Given the description of an element on the screen output the (x, y) to click on. 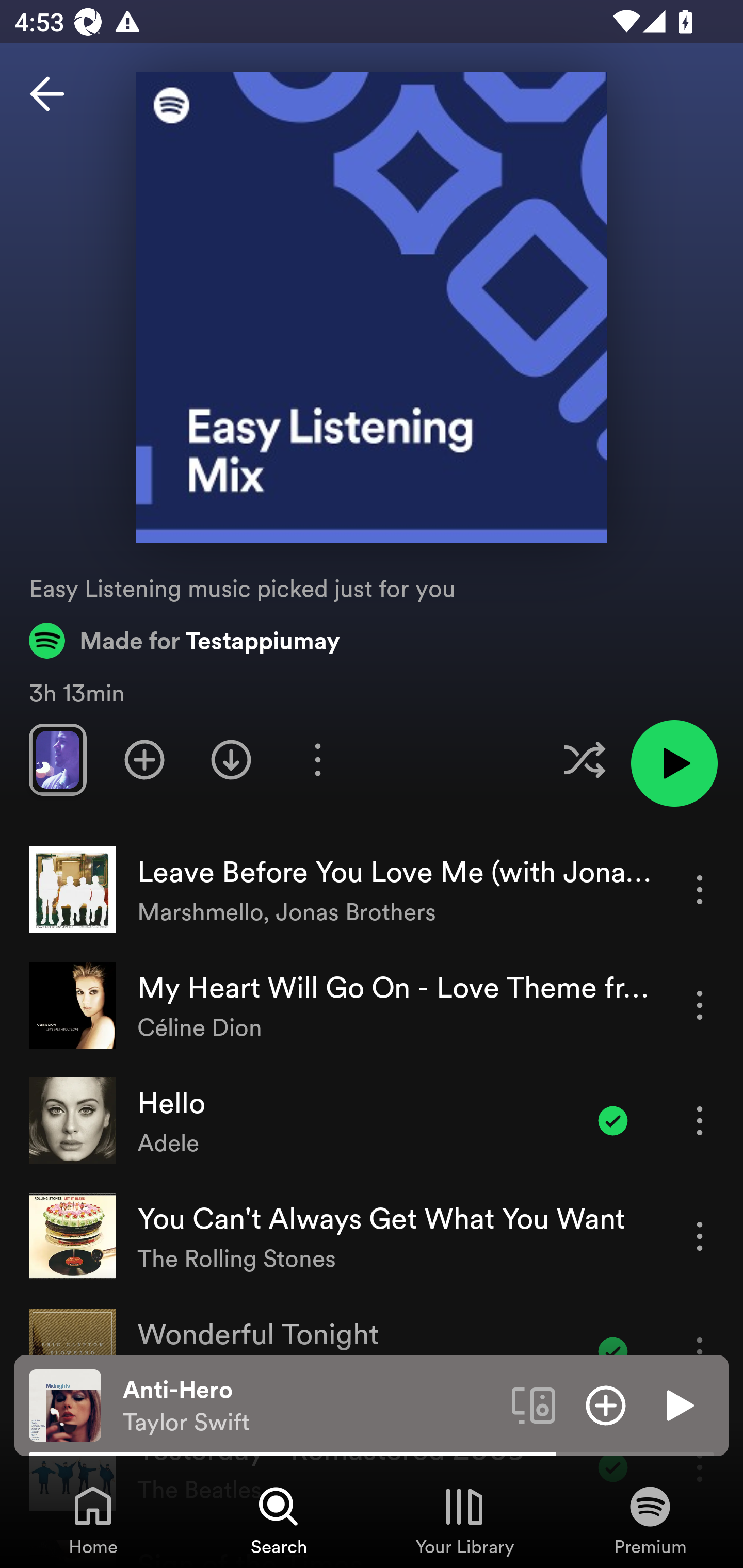
Back (46, 93)
Made for Testappiumay (184, 640)
Swipe through previews of tracks in this playlist. (57, 759)
Add playlist to Your Library (144, 759)
Download (230, 759)
More options for playlist Easy Listening Mix (317, 759)
Enable shuffle for this playlist (583, 759)
Play playlist (674, 763)
Hello Adele Item added More options for song Hello (371, 1121)
Item added (612, 1120)
More options for song Hello (699, 1120)
Anti-Hero Taylor Swift (309, 1405)
The cover art of the currently playing track (64, 1404)
Connect to a device. Opens the devices menu (533, 1404)
Add item (605, 1404)
Play (677, 1404)
Home, Tab 1 of 4 Home Home (92, 1519)
Search, Tab 2 of 4 Search Search (278, 1519)
Your Library, Tab 3 of 4 Your Library Your Library (464, 1519)
Premium, Tab 4 of 4 Premium Premium (650, 1519)
